Given the description of an element on the screen output the (x, y) to click on. 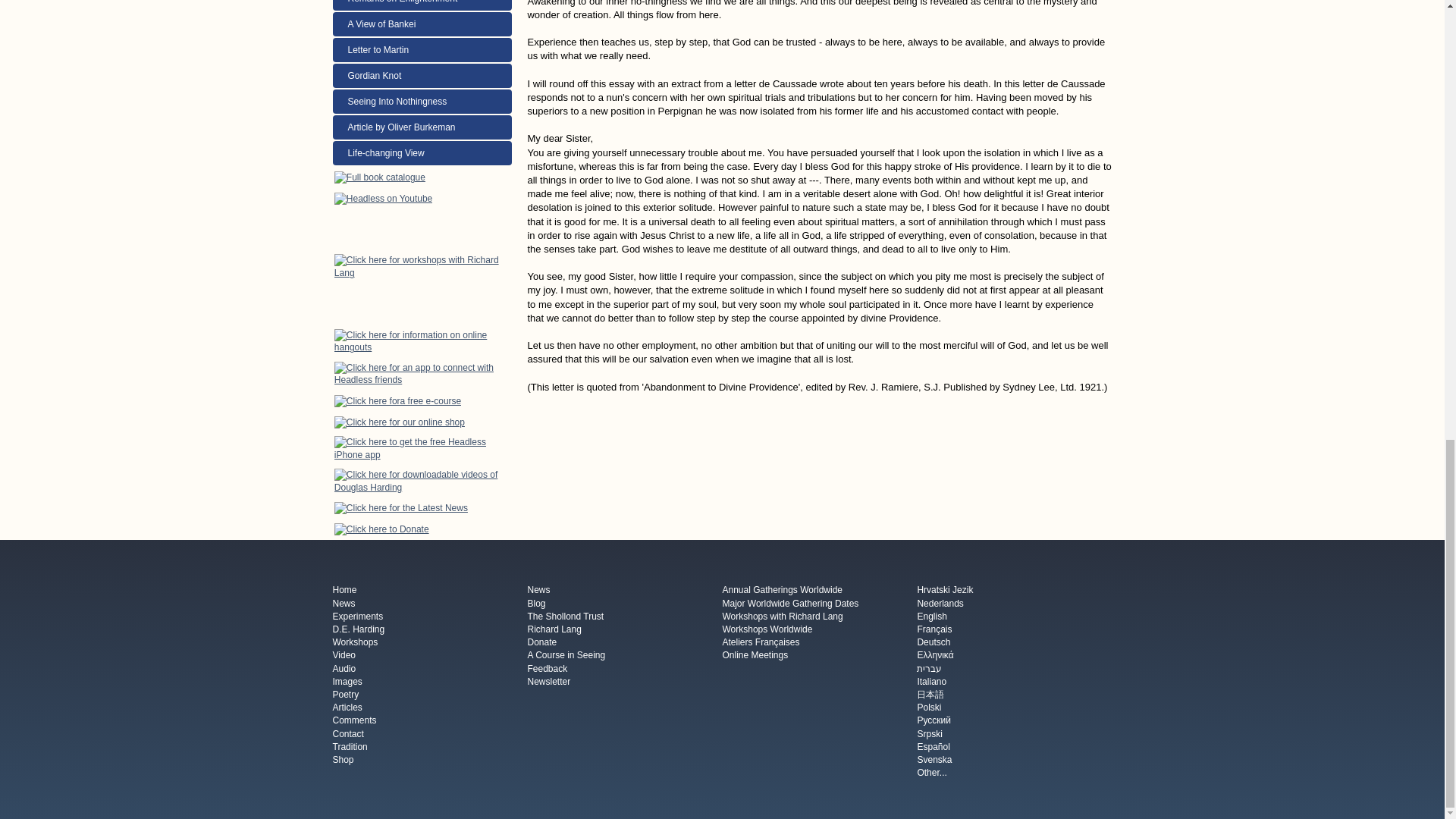
Headless Way Full Book Catalogue (379, 176)
